Given the description of an element on the screen output the (x, y) to click on. 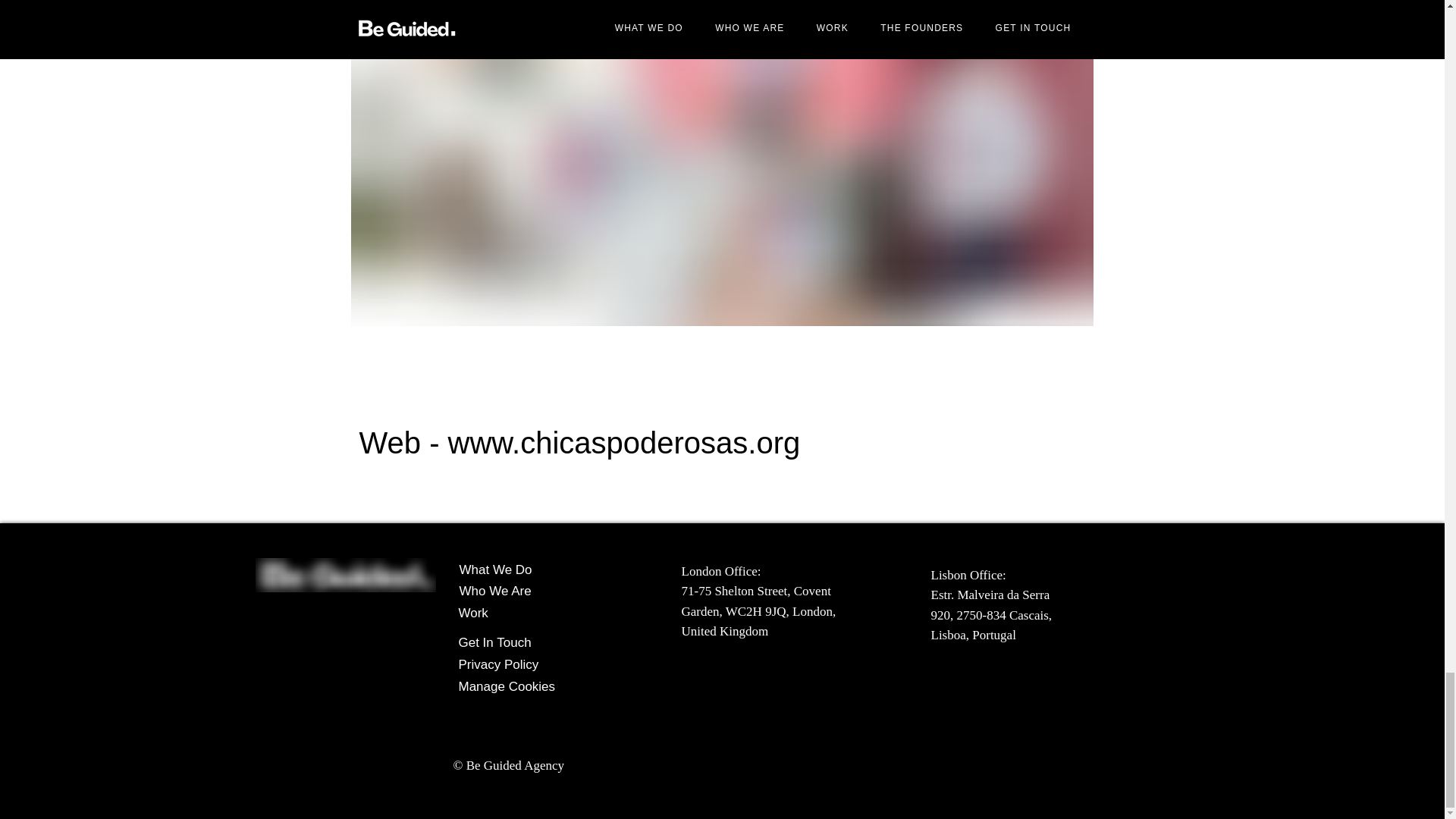
Manage Cookies (512, 686)
Who We Are (513, 591)
Privacy Policy (512, 664)
Get In Touch (512, 642)
Web - www.chicaspoderosas.org (579, 442)
What We Do (513, 570)
Work (512, 613)
